Given the description of an element on the screen output the (x, y) to click on. 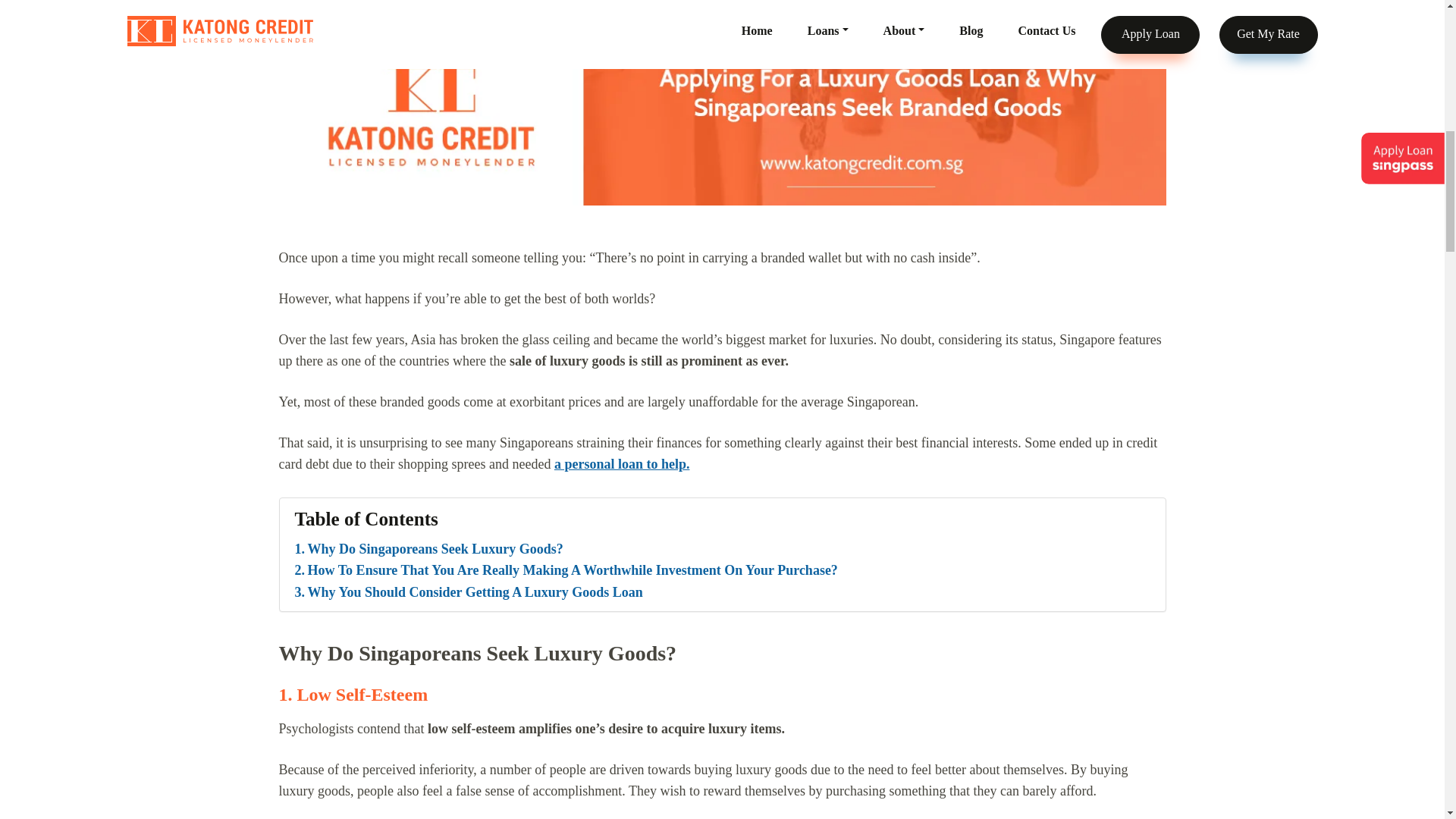
a personal loan to help. (622, 463)
Why Do Singaporeans Seek Luxury Goods? (428, 549)
Why Do Singaporeans Seek Luxury Goods? (428, 549)
Why You Should Consider Getting A Luxury Goods Loan (468, 592)
Why You Should Consider Getting A Luxury Goods Loan (468, 592)
